Given the description of an element on the screen output the (x, y) to click on. 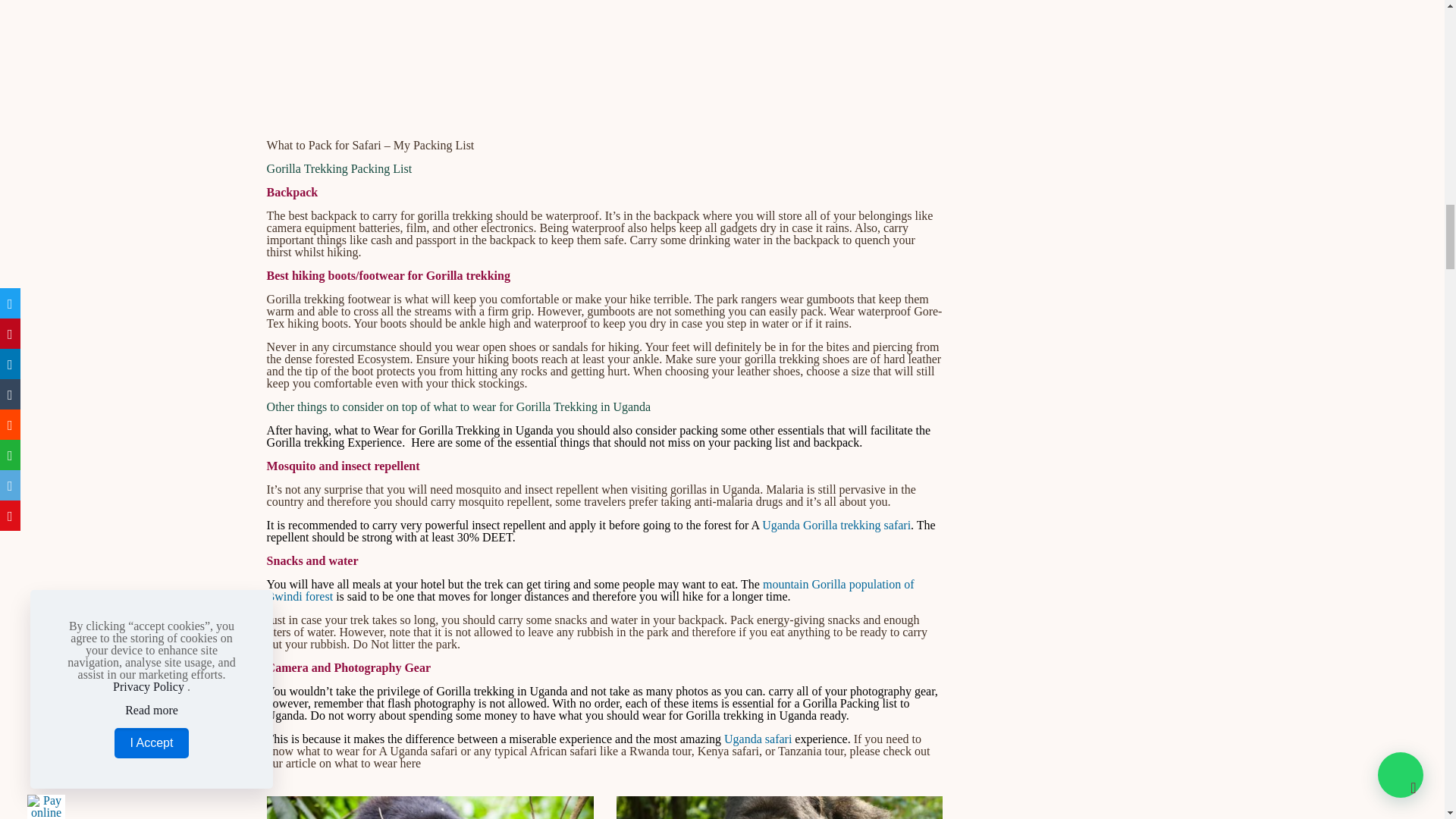
YouTube video player (604, 68)
Uganda Gorilla trekking Safaris (778, 807)
Gorilla trekking (430, 807)
